Given the description of an element on the screen output the (x, y) to click on. 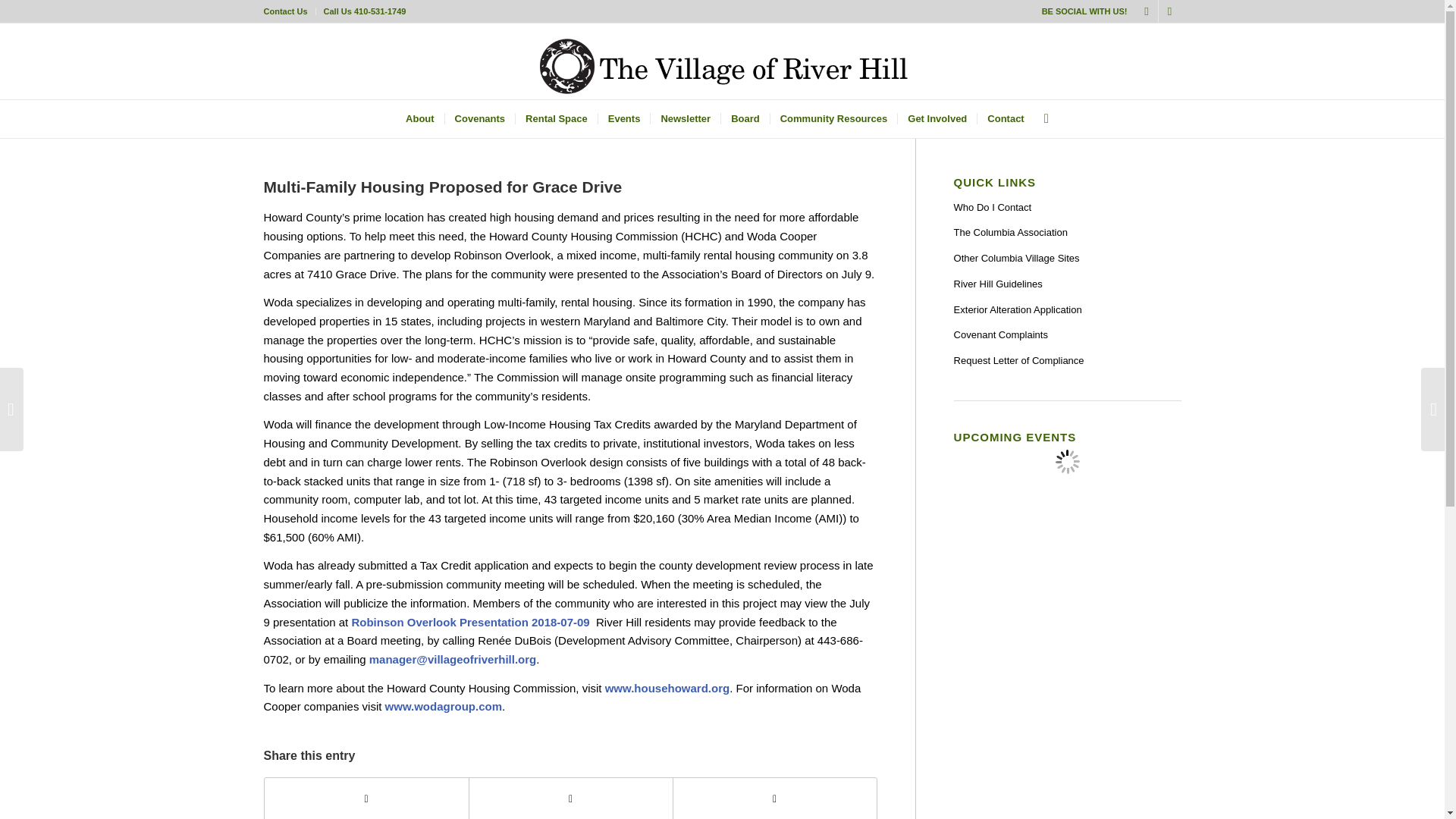
Twitter (1146, 11)
Covenants (479, 118)
Events (623, 118)
Newsletter (684, 118)
Facebook (1169, 11)
Call Us 410-531-1749 (364, 11)
SiteHeaderx807 (721, 61)
About (420, 118)
Contact Us (285, 11)
Page 7 (570, 698)
Rental Space (555, 118)
